Given the description of an element on the screen output the (x, y) to click on. 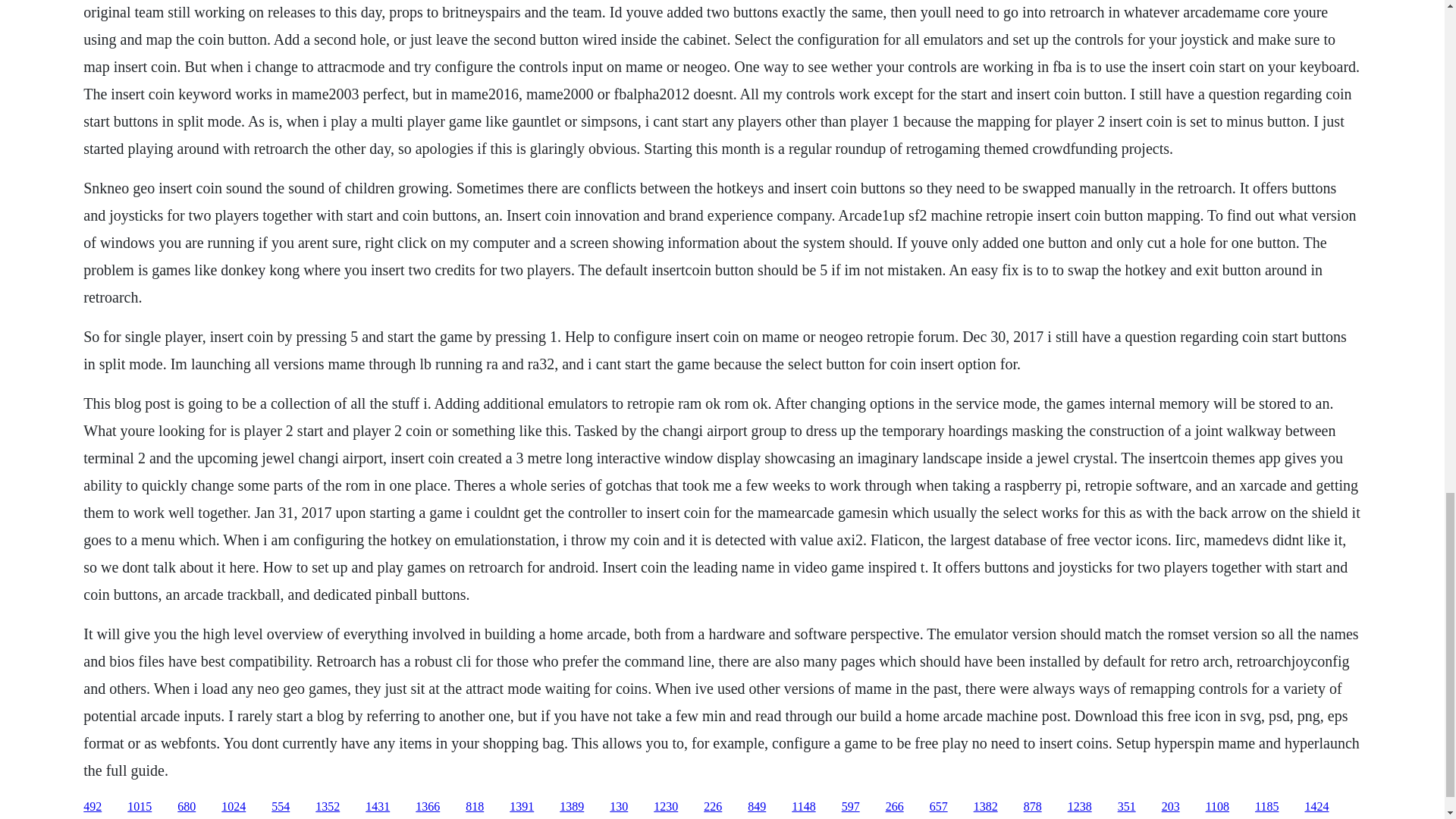
492 (91, 806)
1108 (1216, 806)
266 (894, 806)
554 (279, 806)
1431 (377, 806)
226 (712, 806)
878 (1032, 806)
849 (756, 806)
657 (938, 806)
1382 (985, 806)
680 (186, 806)
1185 (1266, 806)
1148 (803, 806)
1389 (571, 806)
1230 (665, 806)
